Given the description of an element on the screen output the (x, y) to click on. 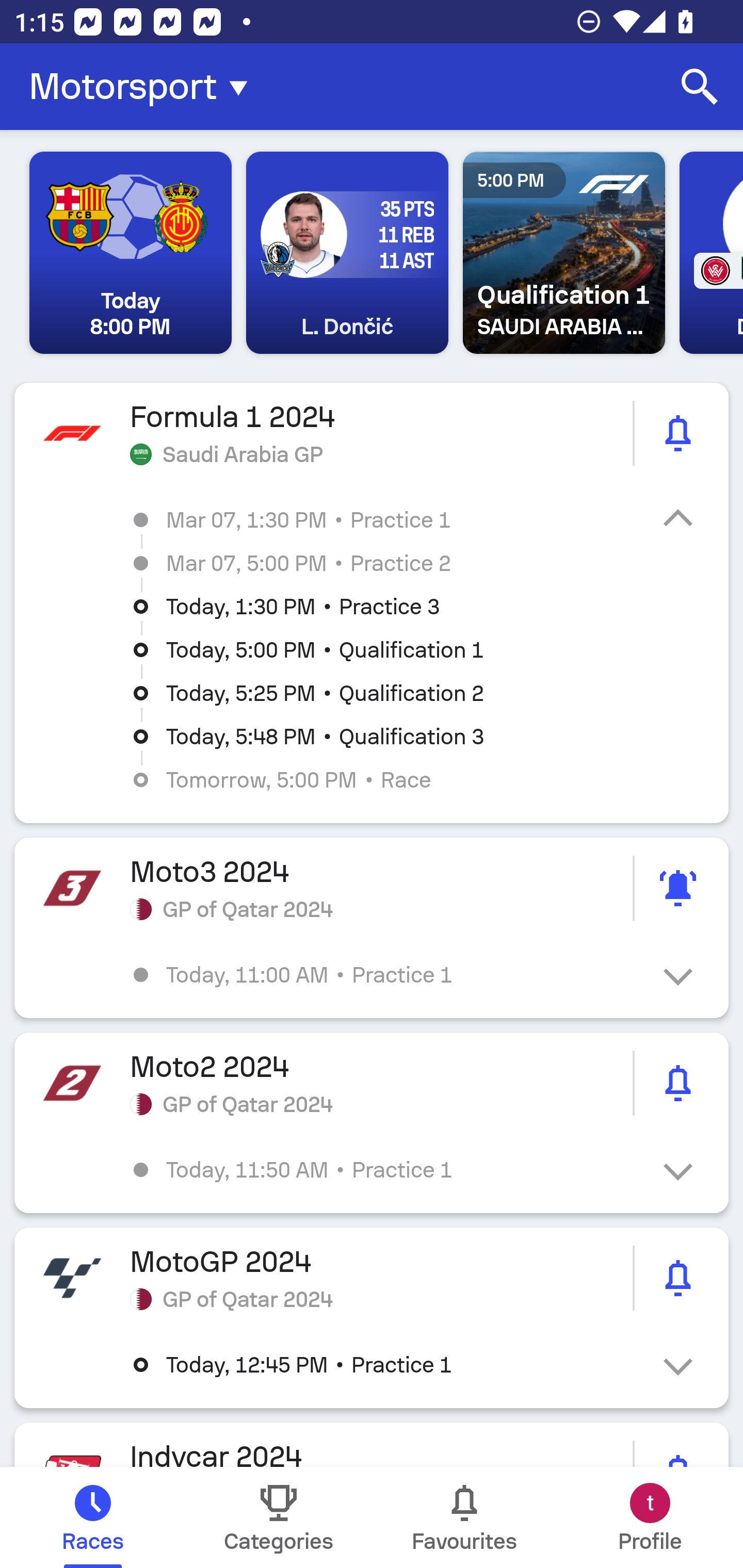
Motorsport (144, 86)
Search (699, 86)
Today
8:00 PM (130, 253)
35 PTS
11 REB
11 AST L. Dončić (346, 253)
Today, 11:00 AM • Practice 1 (385, 974)
Today, 11:50 AM • Practice 1 (385, 1169)
Today, 12:45 PM • Practice 1 (385, 1364)
Categories (278, 1517)
Favourites (464, 1517)
Profile (650, 1517)
